Given the description of an element on the screen output the (x, y) to click on. 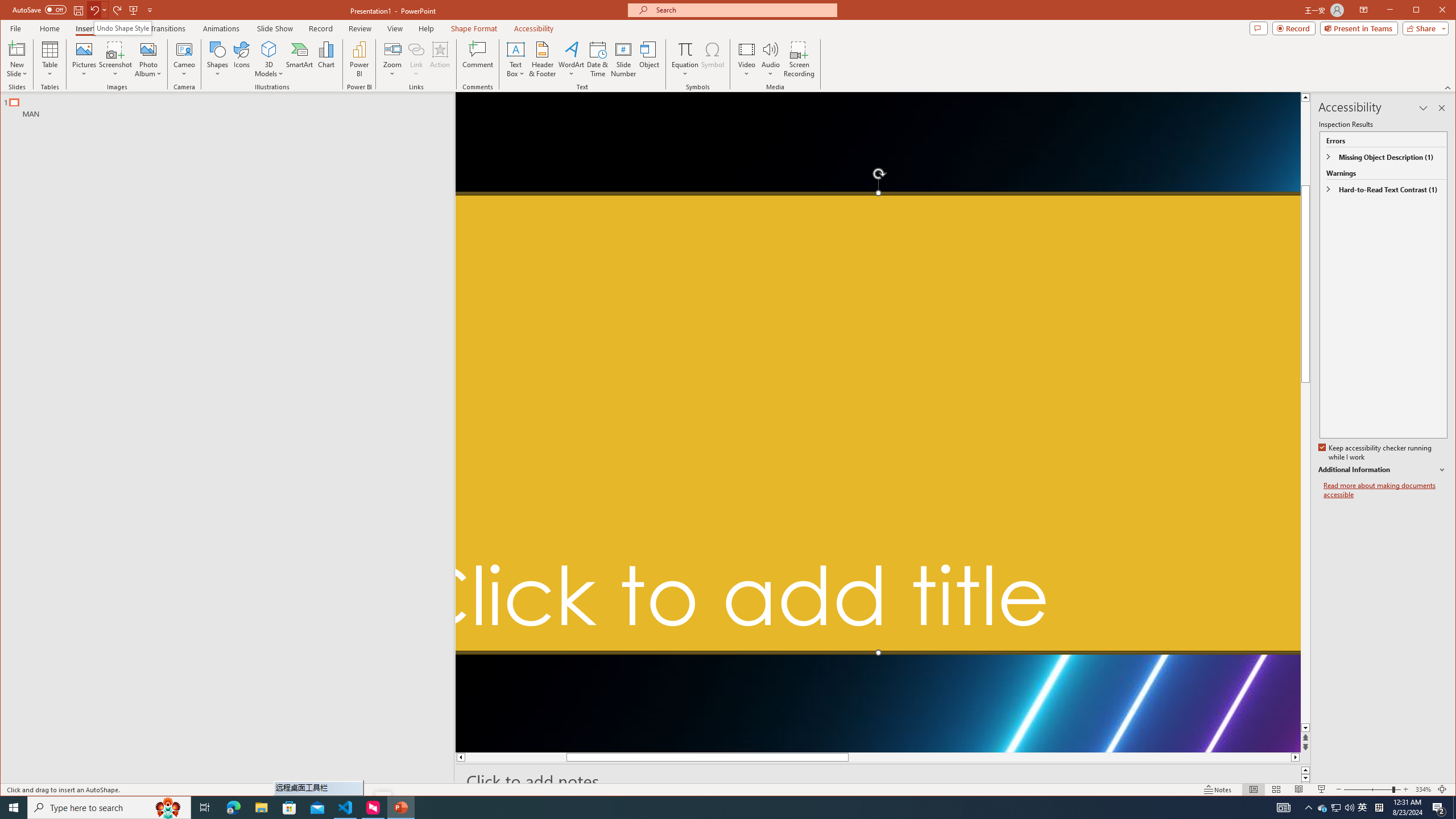
View (395, 28)
3D Models (269, 48)
New Slide (17, 59)
Cameo (183, 59)
Icons (241, 59)
Comments (1258, 28)
Draw Horizontal Text Box (515, 48)
Table (49, 59)
Start (13, 807)
Symbol... (712, 59)
Quick Access Toolbar (83, 9)
